Given the description of an element on the screen output the (x, y) to click on. 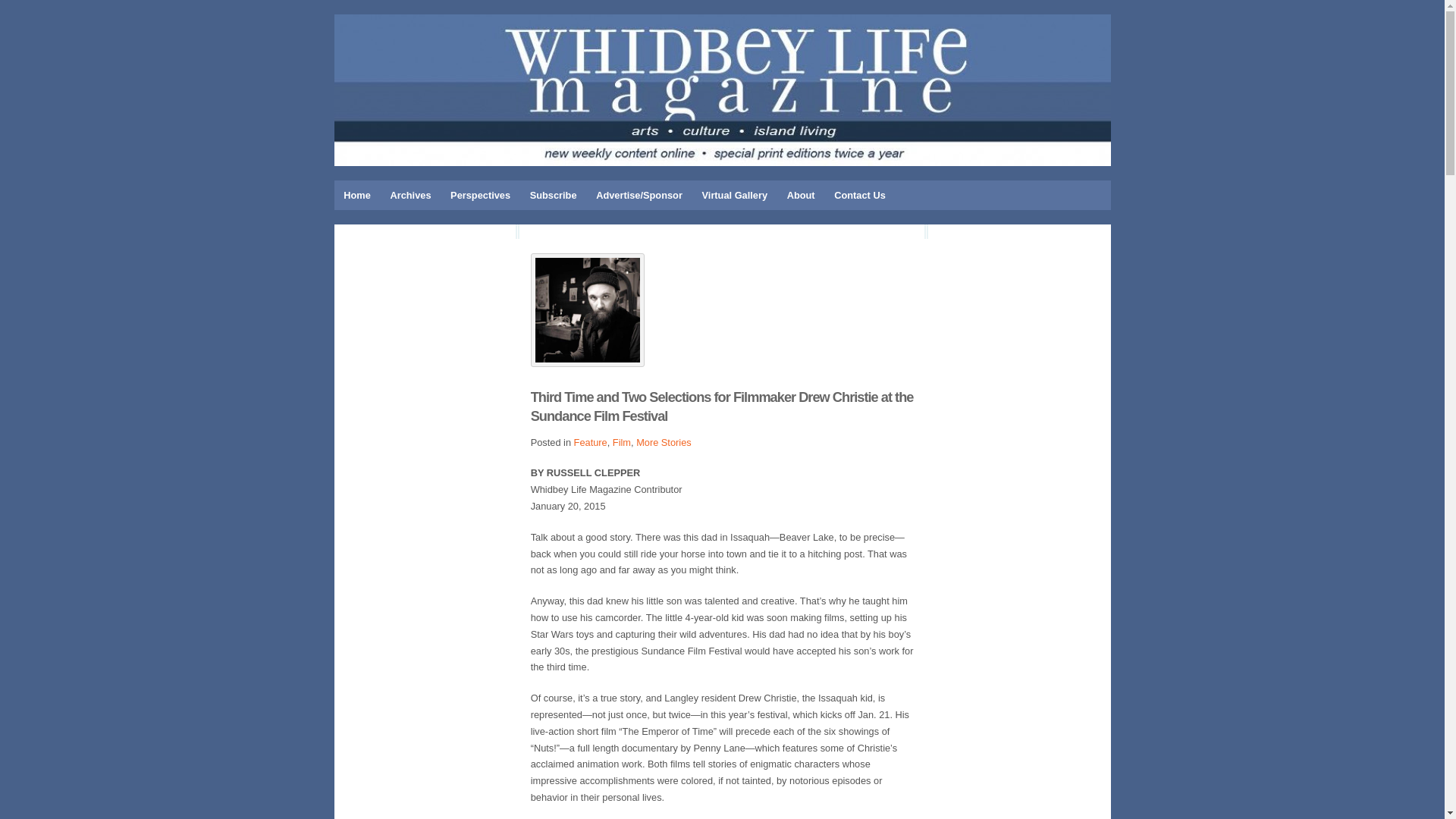
Archives (410, 194)
Subscribe (552, 194)
About (801, 194)
Virtual Gallery (735, 194)
Feature (590, 441)
Perspectives (480, 194)
Contact Us (859, 194)
Home (356, 194)
